Given the description of an element on the screen output the (x, y) to click on. 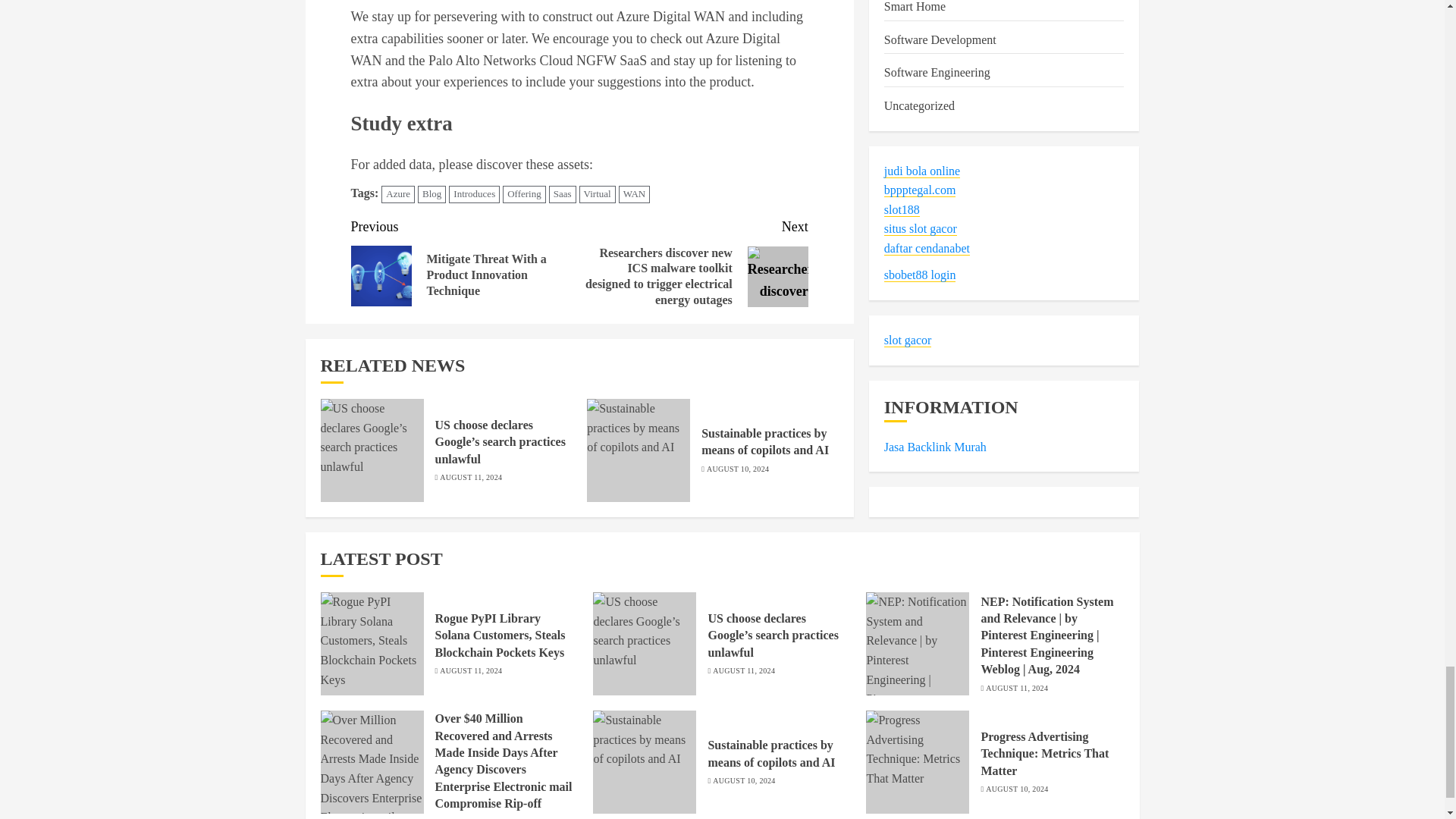
Azure (397, 194)
Sustainable practices by means of copilots and AI (638, 450)
Saas (562, 194)
Virtual (597, 194)
Blog (431, 194)
Offering (524, 194)
WAN (634, 194)
